Given the description of an element on the screen output the (x, y) to click on. 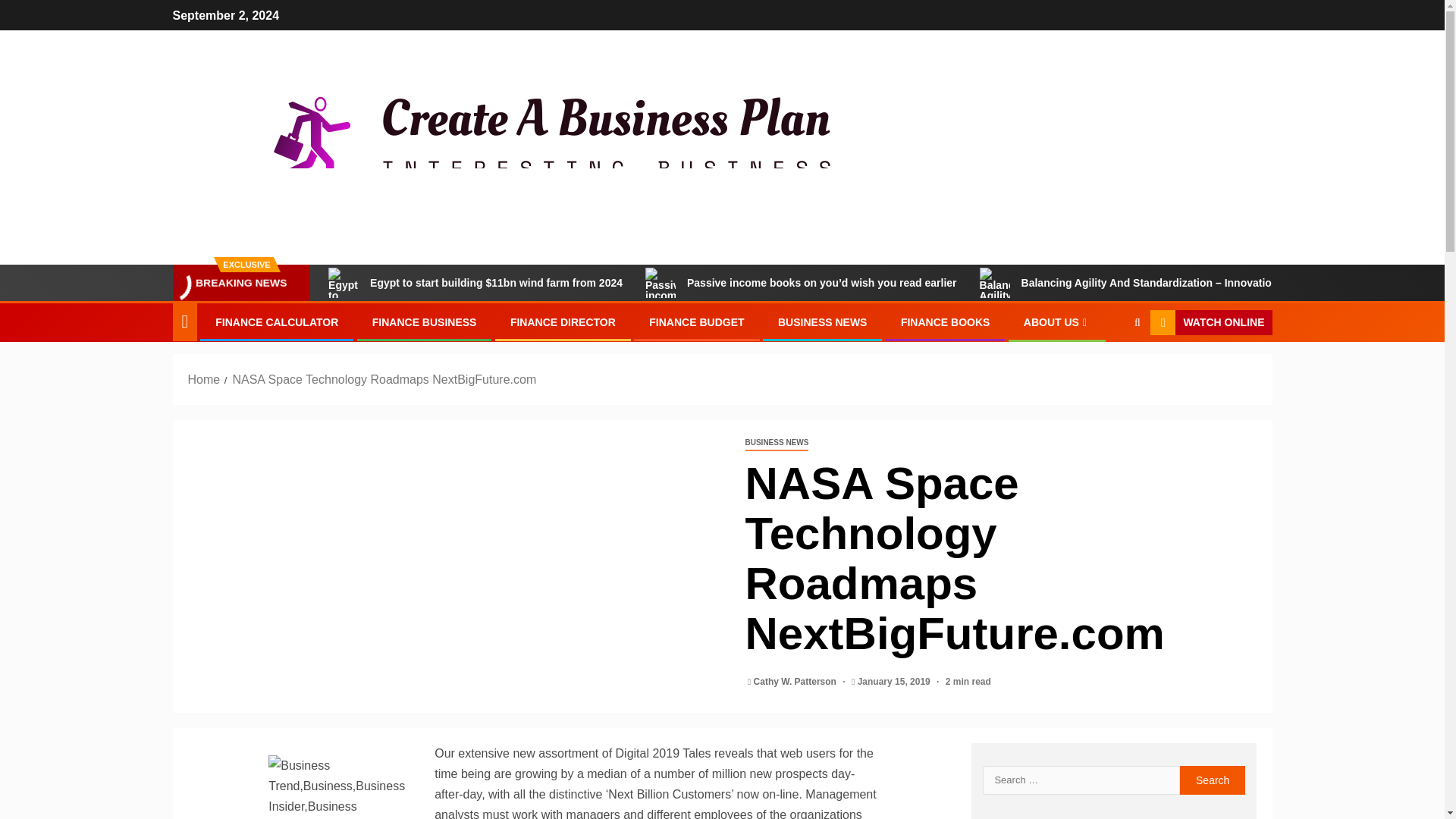
FINANCE CALCULATOR (276, 322)
Search (1212, 779)
Cathy W. Patterson (797, 681)
NASA Space Technology Roadmaps NextBigFuture.com (383, 379)
BUSINESS NEWS (821, 322)
Search (1212, 779)
FINANCE BOOKS (945, 322)
FINANCE BUDGET (696, 322)
FINANCE BUSINESS (424, 322)
ABOUT US (1056, 322)
